Given the description of an element on the screen output the (x, y) to click on. 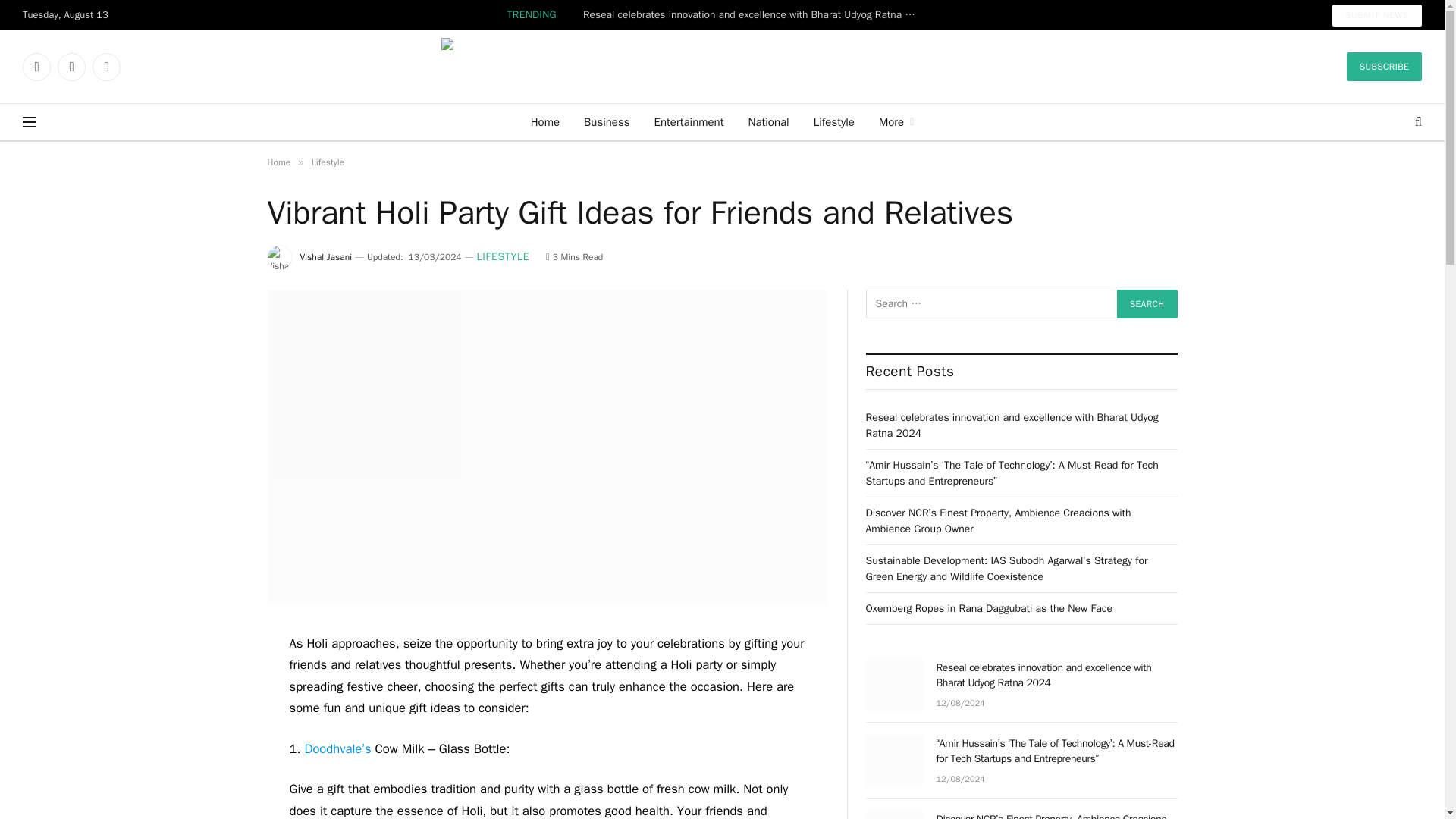
More (896, 122)
Posts by Vishal Jasani (325, 256)
Vibrant Holi Party Gift Ideas for Friends and Relatives (546, 600)
Instagram (106, 67)
Search (1146, 303)
SUBMIT NEWS (1377, 15)
LIFESTYLE (503, 257)
Entertainment (689, 122)
National (767, 122)
